Given the description of an element on the screen output the (x, y) to click on. 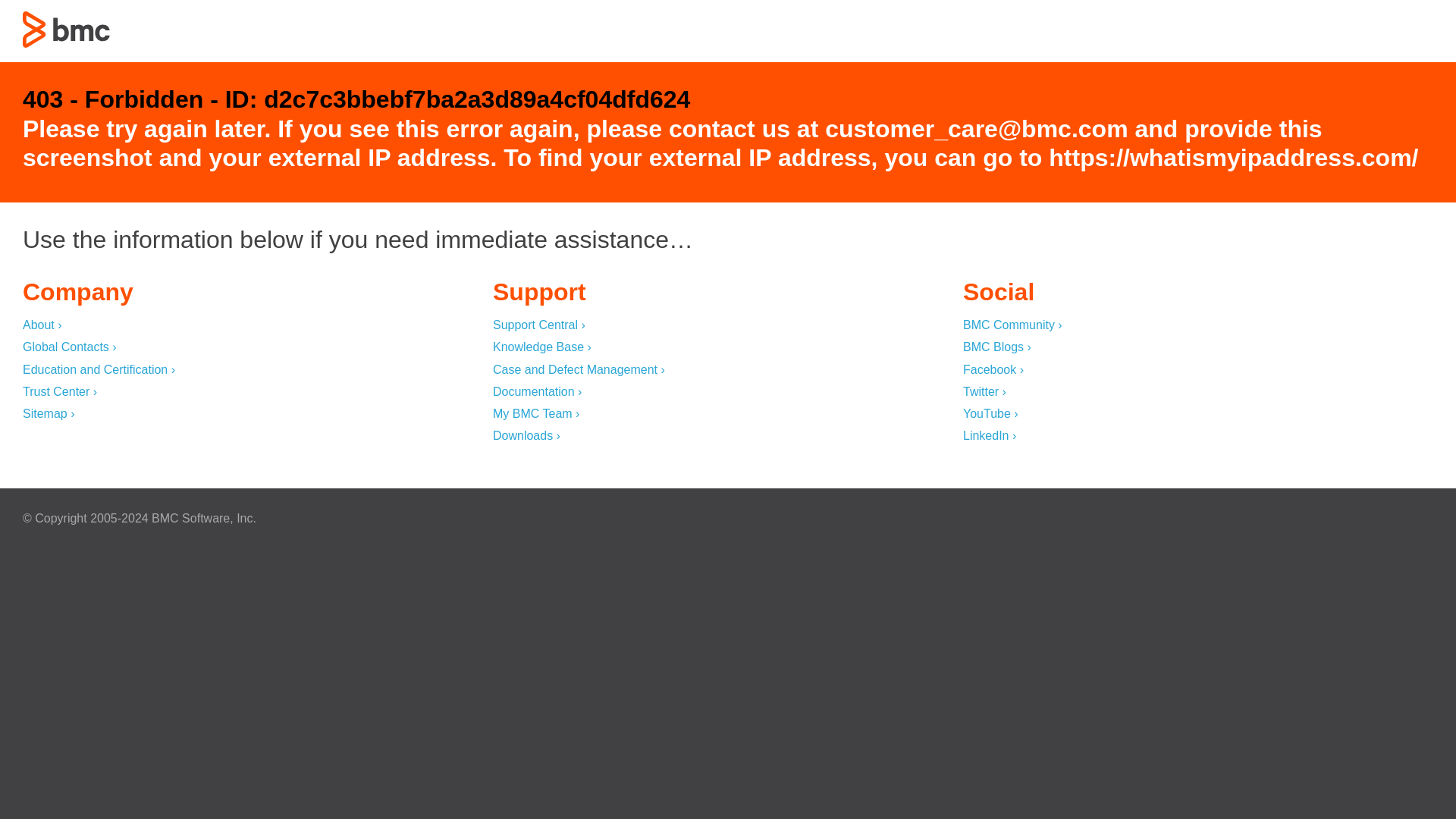
403 - Forbidden (66, 29)
